Given the description of an element on the screen output the (x, y) to click on. 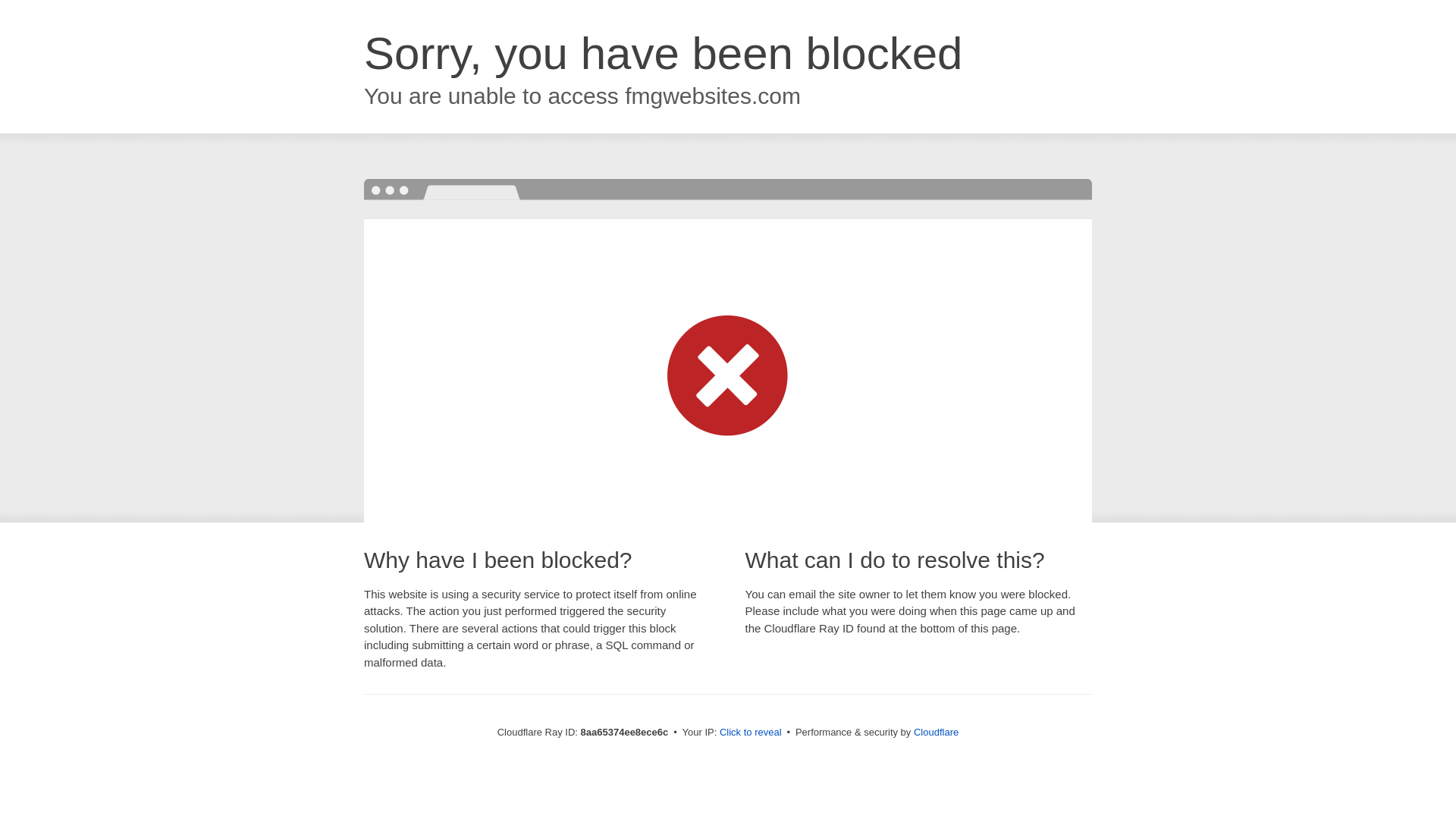
Click to reveal (750, 732)
Cloudflare (936, 731)
